Given the description of an element on the screen output the (x, y) to click on. 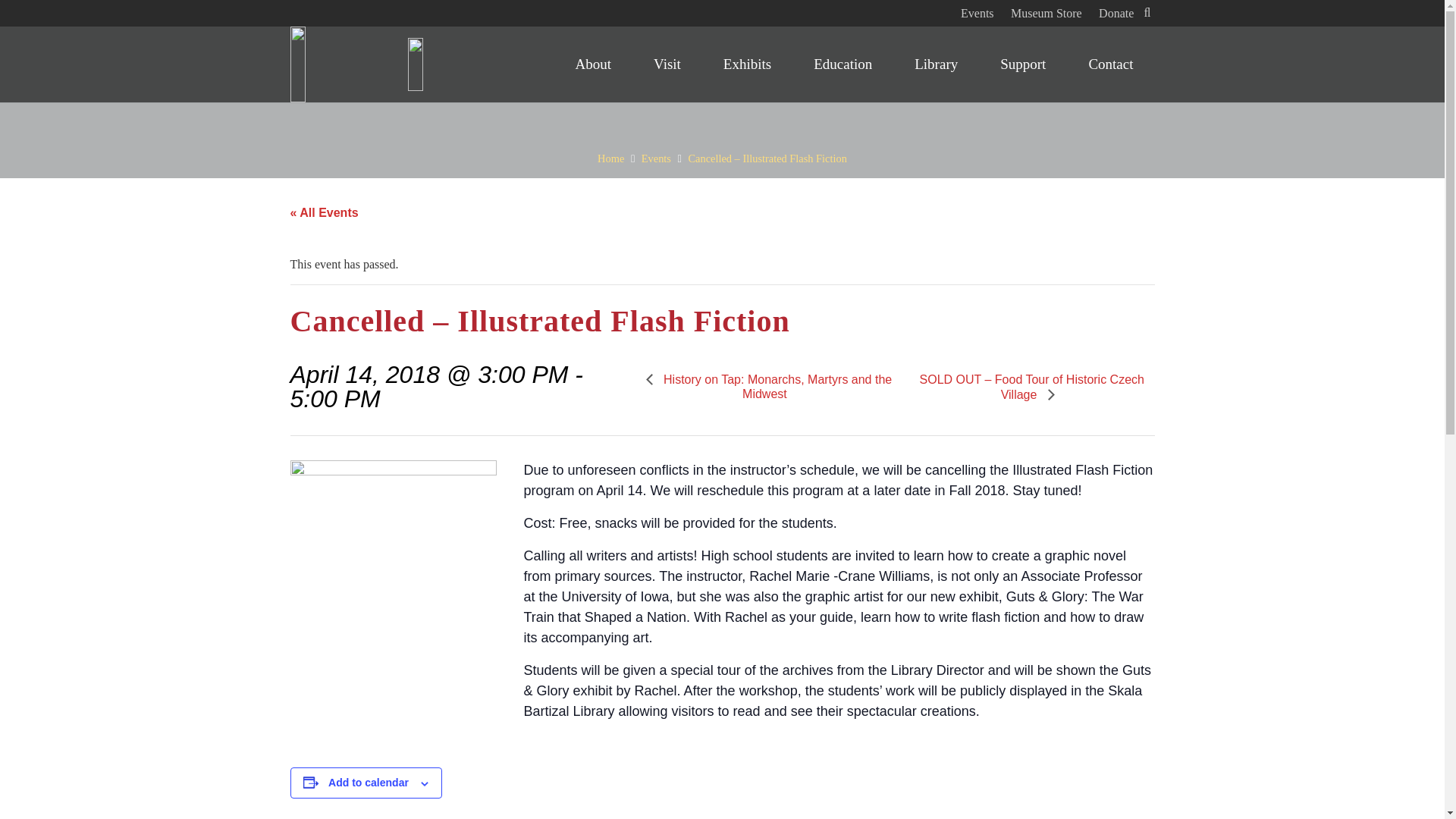
Visit (666, 64)
Events (977, 11)
Donate (1116, 11)
Museum Store (1045, 11)
About (593, 64)
Exhibits (746, 64)
Education (842, 64)
Library (935, 64)
